Given the description of an element on the screen output the (x, y) to click on. 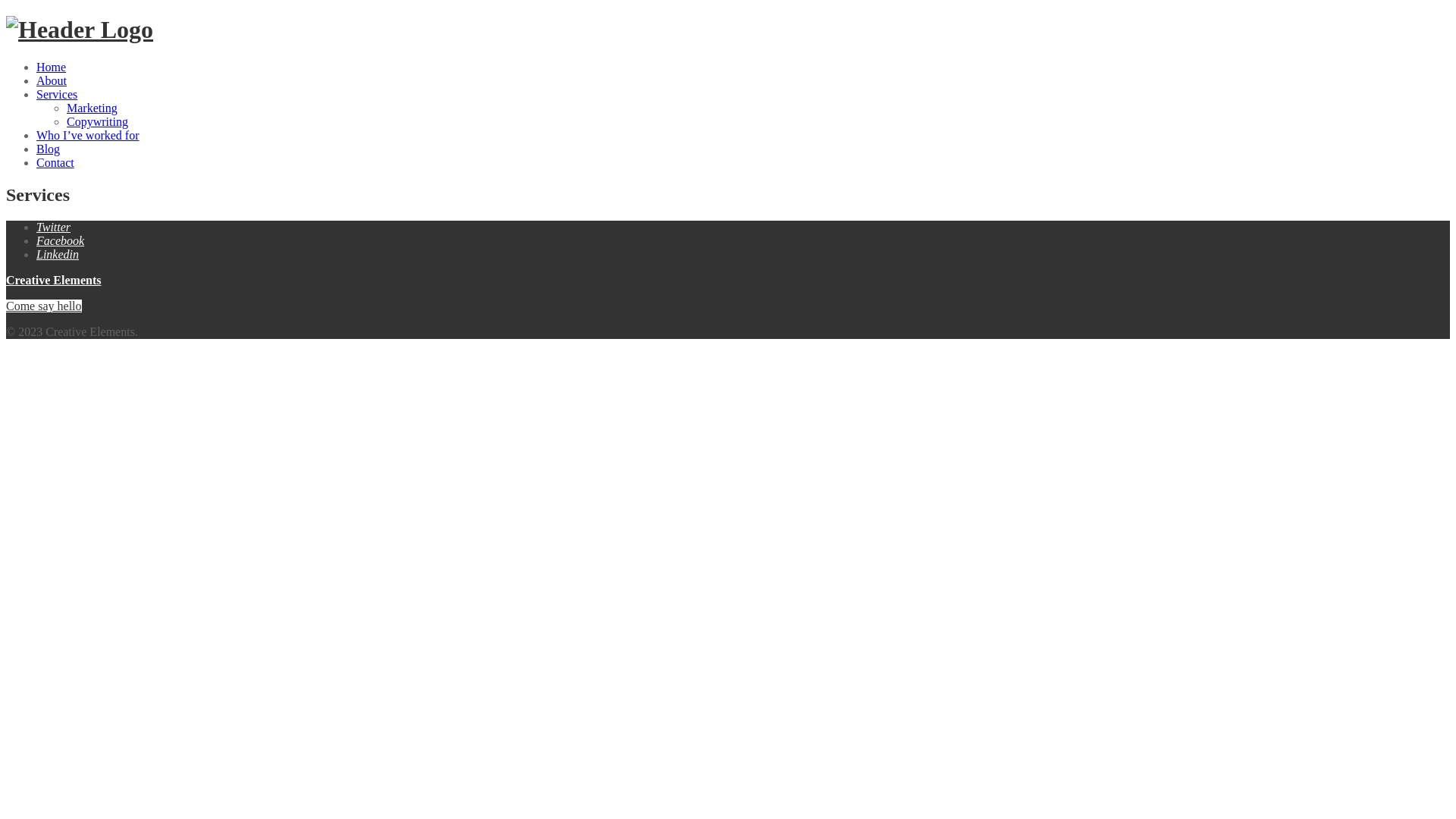
Blog Element type: text (47, 148)
Creative Elements Element type: hover (79, 29)
About Element type: text (51, 80)
Home Element type: text (50, 66)
Linkedin Element type: text (57, 253)
Facebook Element type: text (60, 240)
Services Element type: text (56, 93)
Twitter Element type: text (53, 226)
Creative Elements Element type: text (53, 279)
Copywriting Element type: text (97, 121)
Contact Element type: text (55, 162)
Marketing Element type: text (91, 107)
Come say hello Element type: text (43, 305)
